Given the description of an element on the screen output the (x, y) to click on. 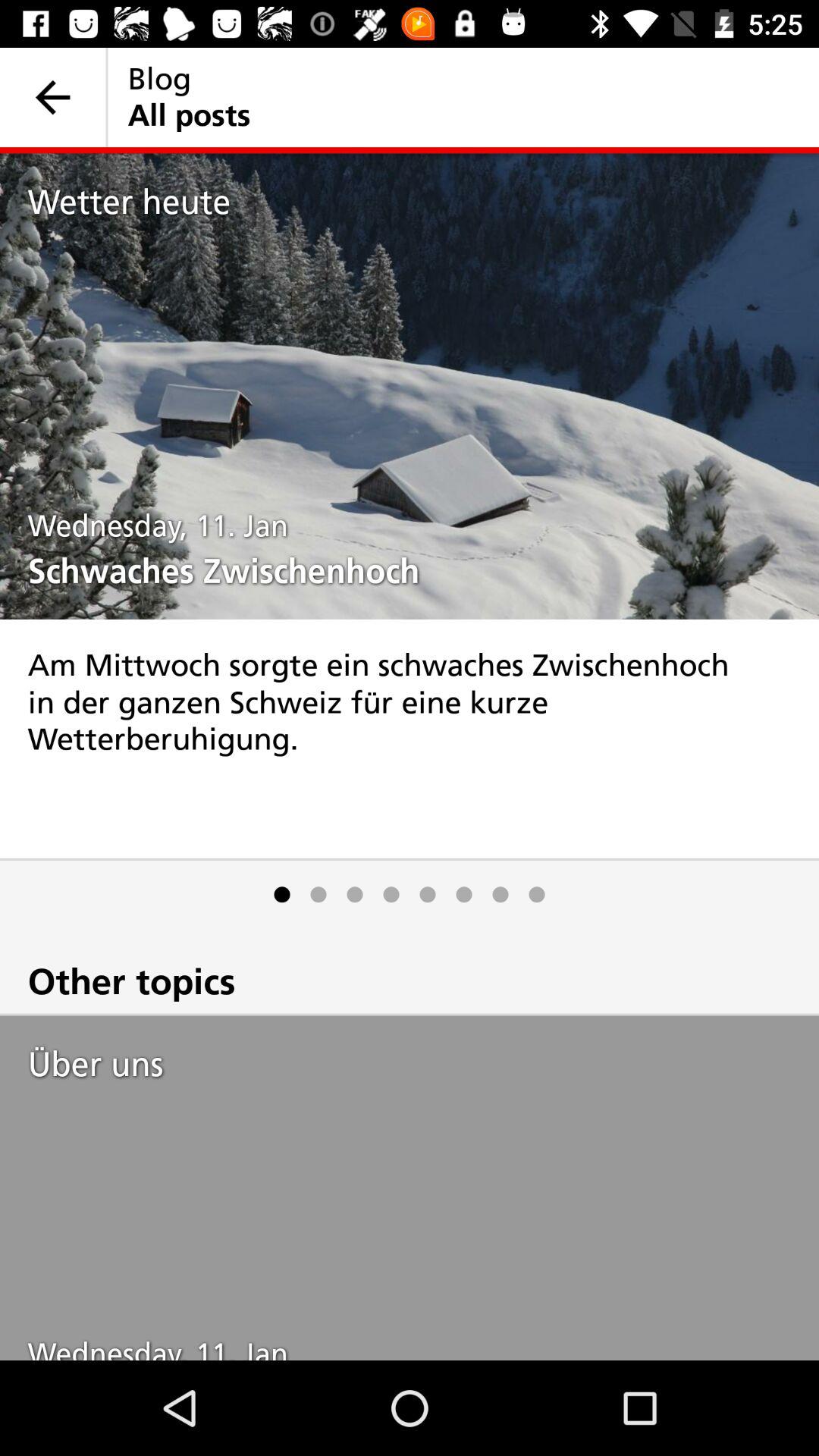
select the item below am mittwoch sorgte icon (354, 894)
